Given the description of an element on the screen output the (x, y) to click on. 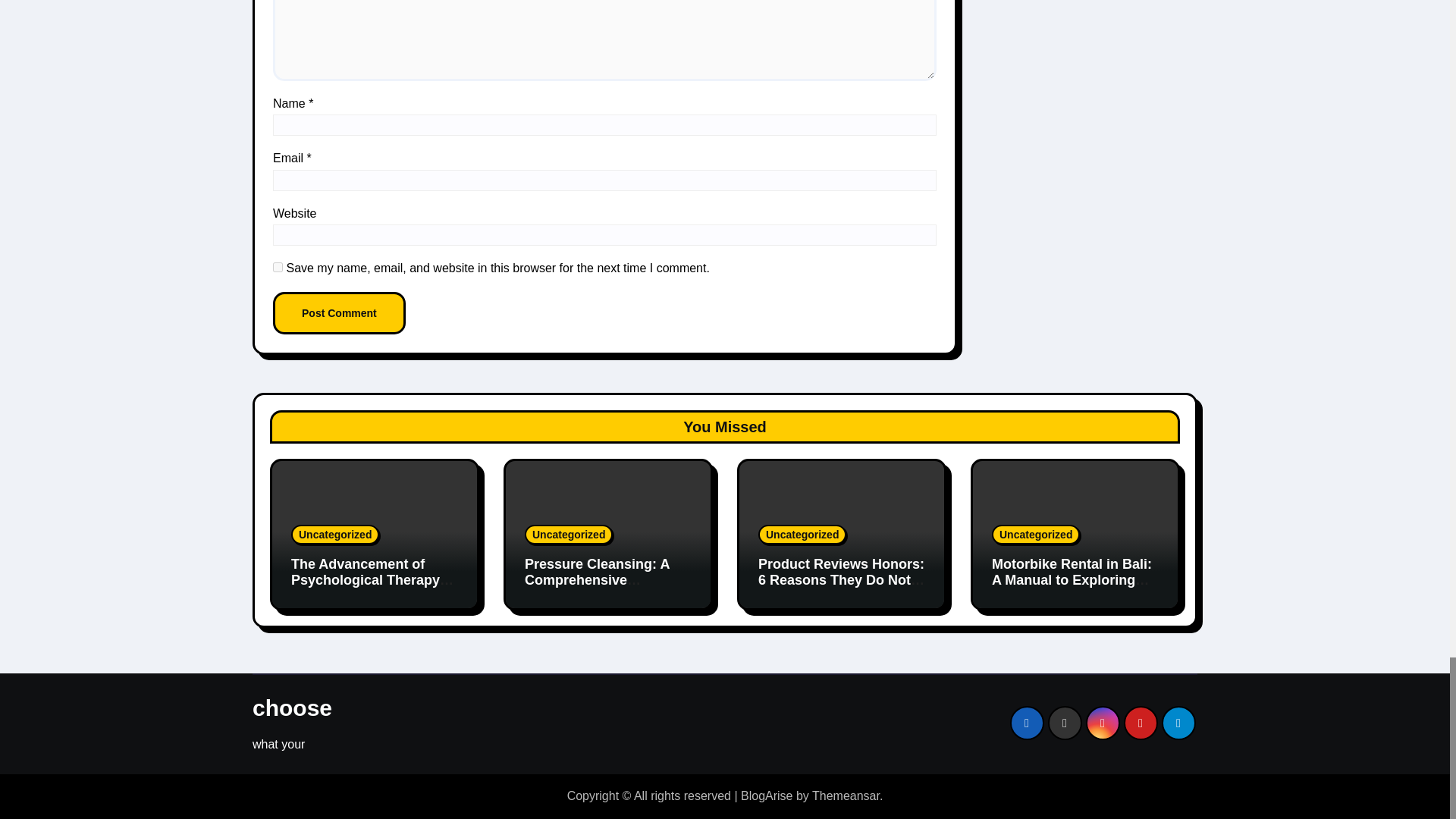
Post Comment (339, 312)
yes (277, 266)
